Given the description of an element on the screen output the (x, y) to click on. 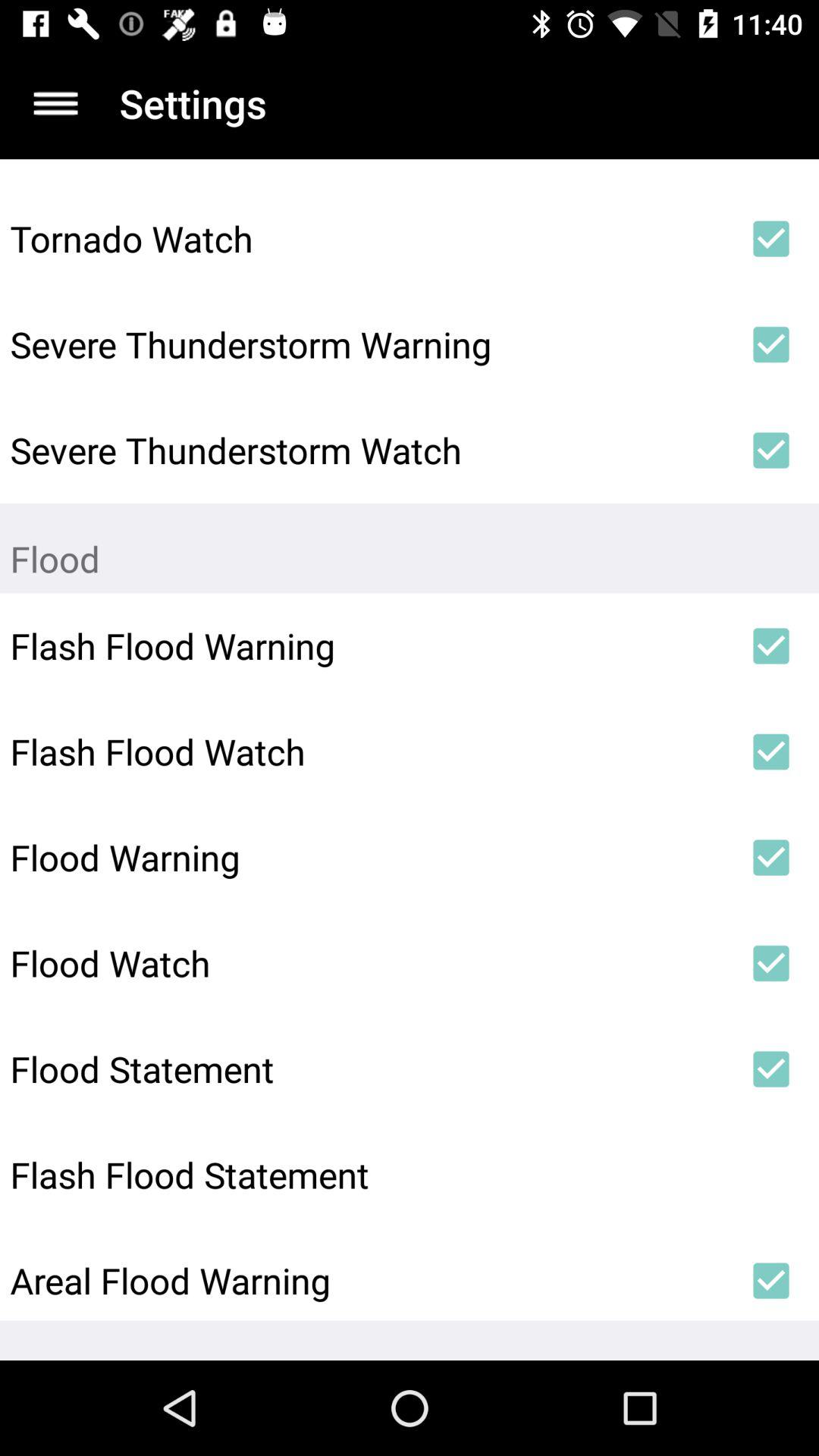
turn off icon above the tornado watch icon (55, 103)
